Given the description of an element on the screen output the (x, y) to click on. 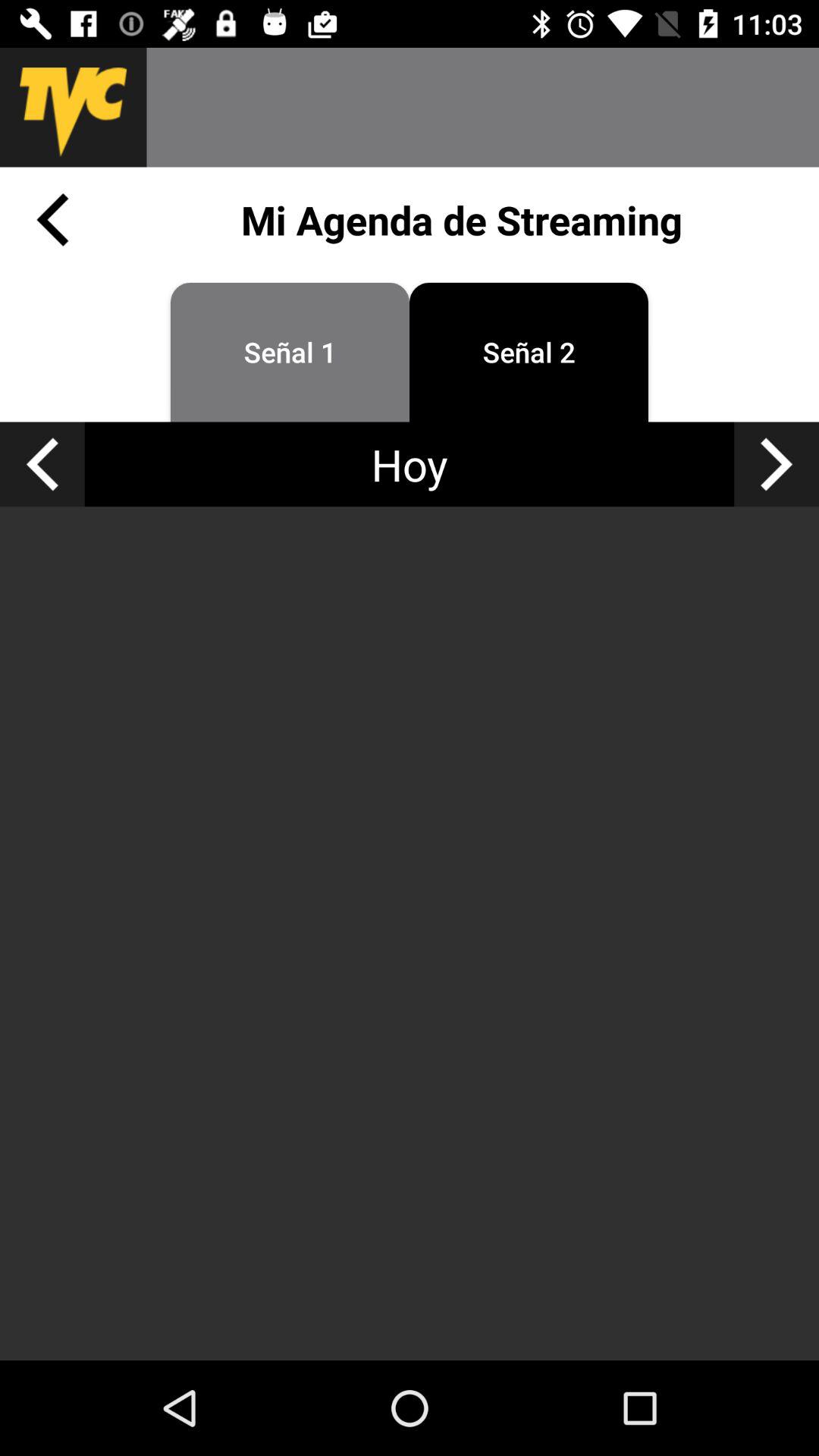
turn on item above the hoy app (289, 352)
